Given the description of an element on the screen output the (x, y) to click on. 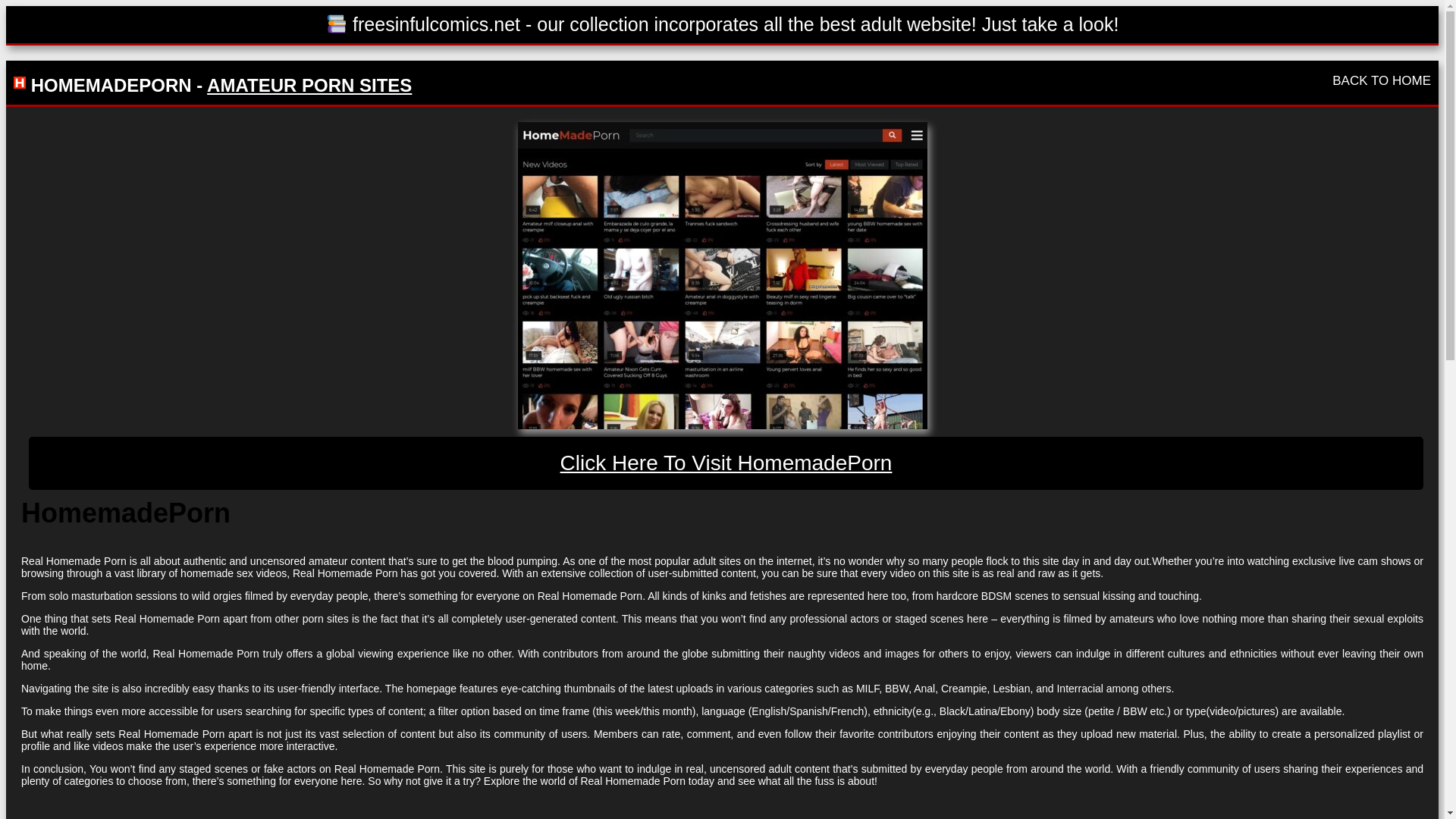
HomemadePorn (726, 462)
Click Here To Visit HomemadePorn (726, 462)
HomemadePorn (721, 275)
AMATEUR PORN SITES (309, 85)
BACK TO HOME (1381, 80)
